Given the description of an element on the screen output the (x, y) to click on. 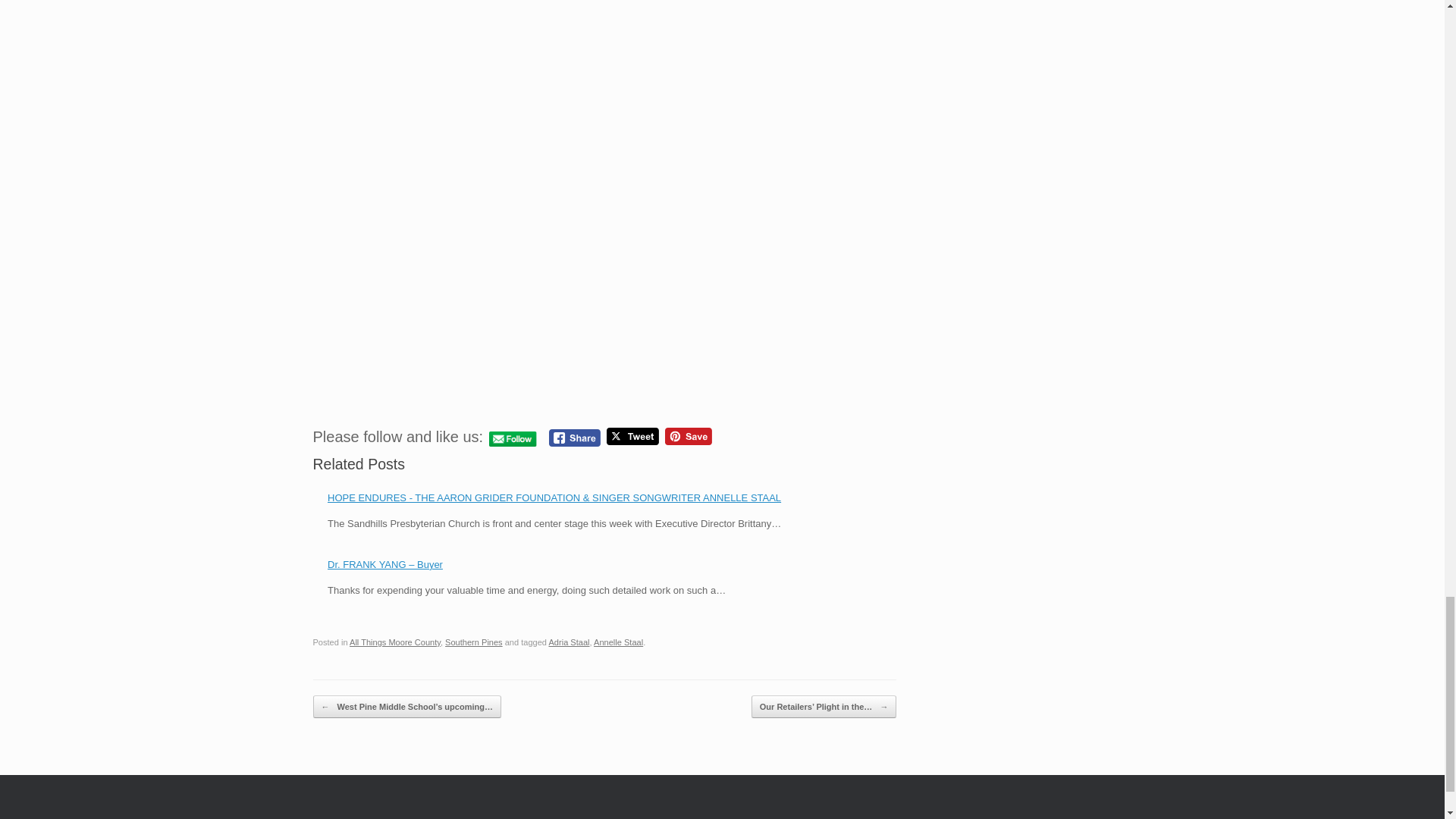
Facebook Share (573, 437)
Pin Share (688, 436)
Southern Pines (473, 642)
Tweet (633, 436)
Annelle Staal (618, 642)
All Things Moore County (395, 642)
Adria Staal (568, 642)
